Given the description of an element on the screen output the (x, y) to click on. 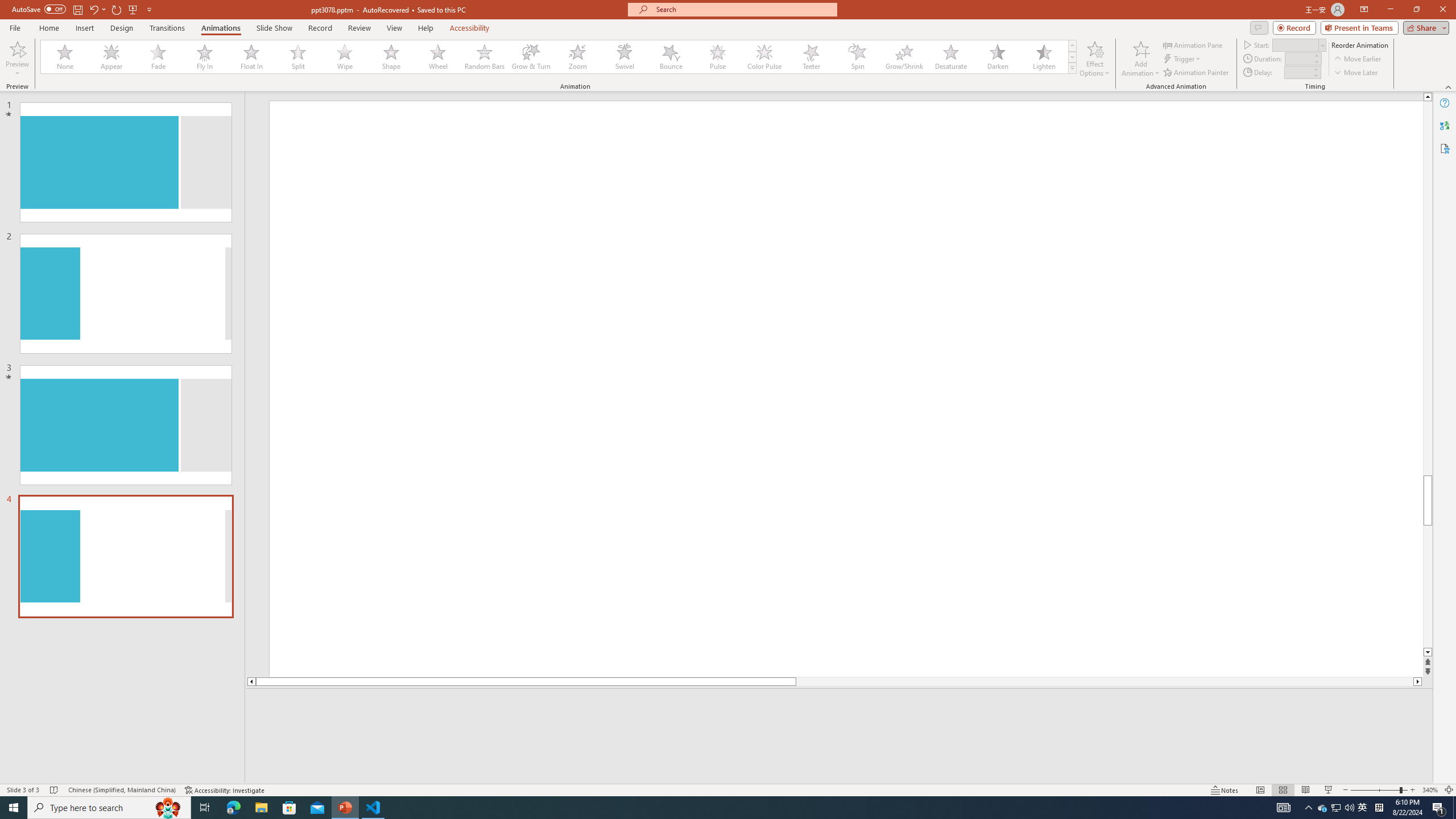
Bounce (670, 56)
